Given the description of an element on the screen output the (x, y) to click on. 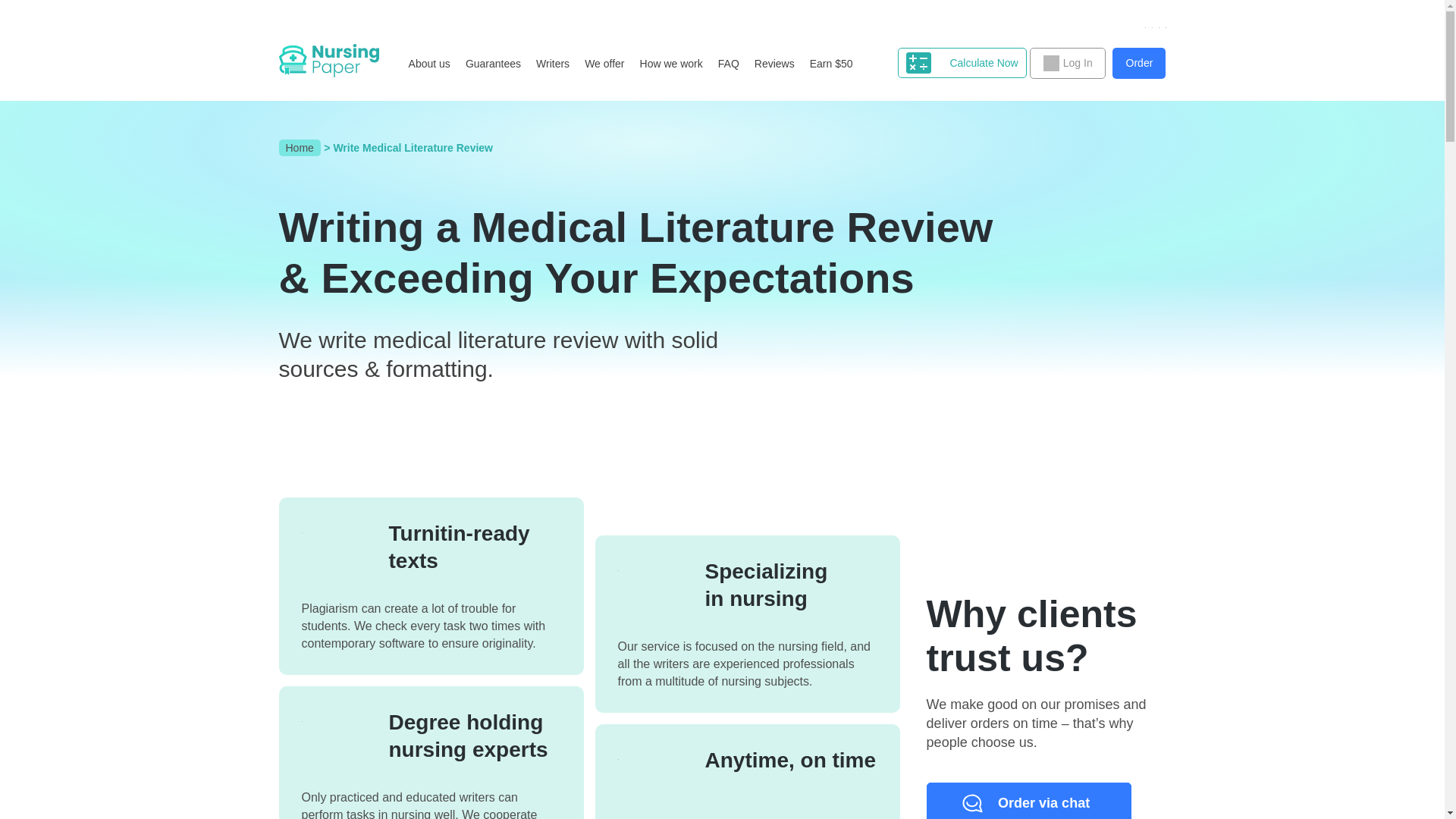
We offer (604, 63)
Writers (552, 63)
About us (429, 63)
Reviews (774, 63)
Order (1139, 61)
Guarantees (493, 63)
Home (299, 147)
Calculate Now (962, 62)
FAQ (728, 63)
Order via chat (1028, 800)
